Given the description of an element on the screen output the (x, y) to click on. 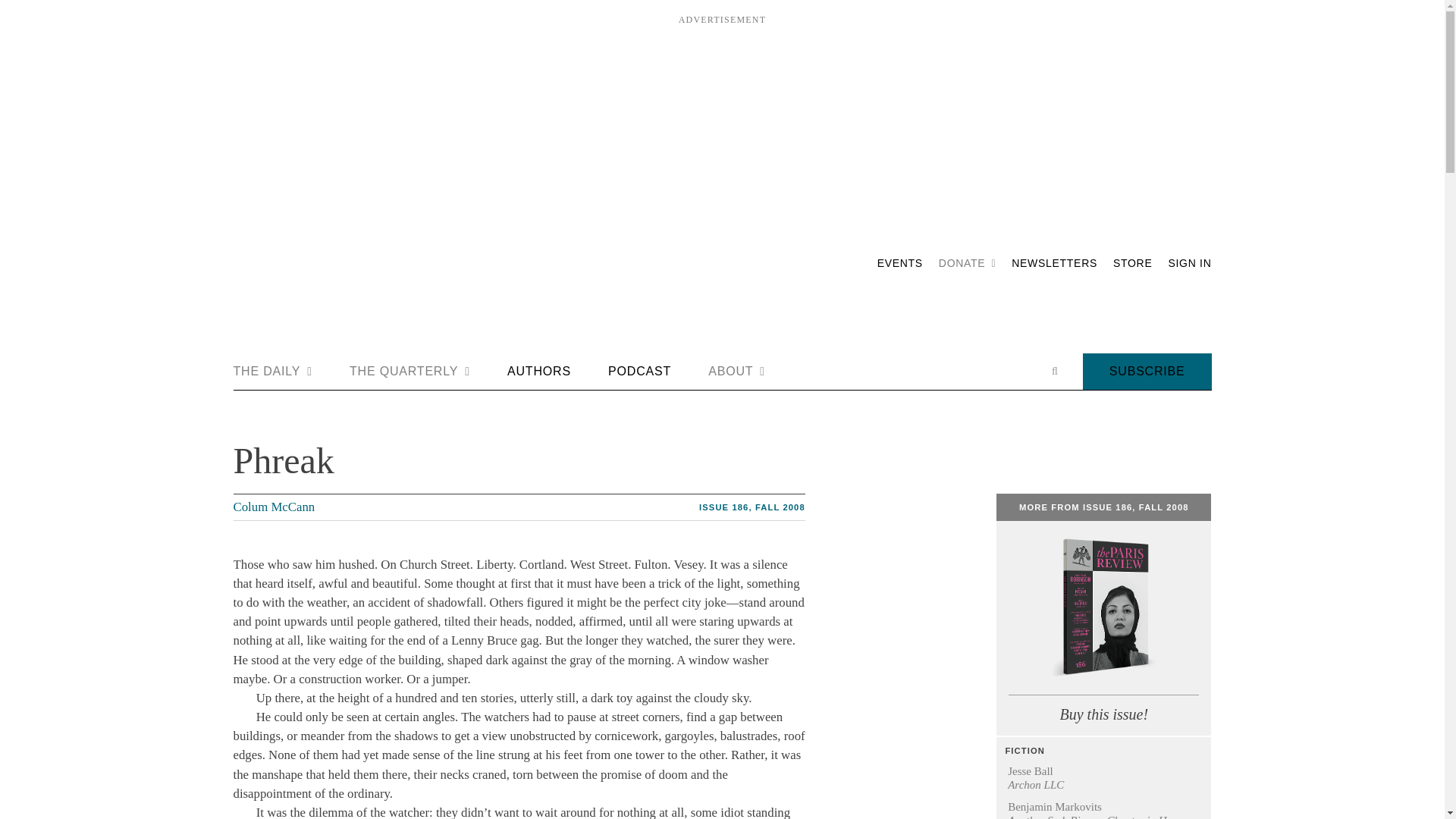
THE DAILY (272, 371)
Open search (1054, 371)
THE QUARTERLY (409, 371)
